Given the description of an element on the screen output the (x, y) to click on. 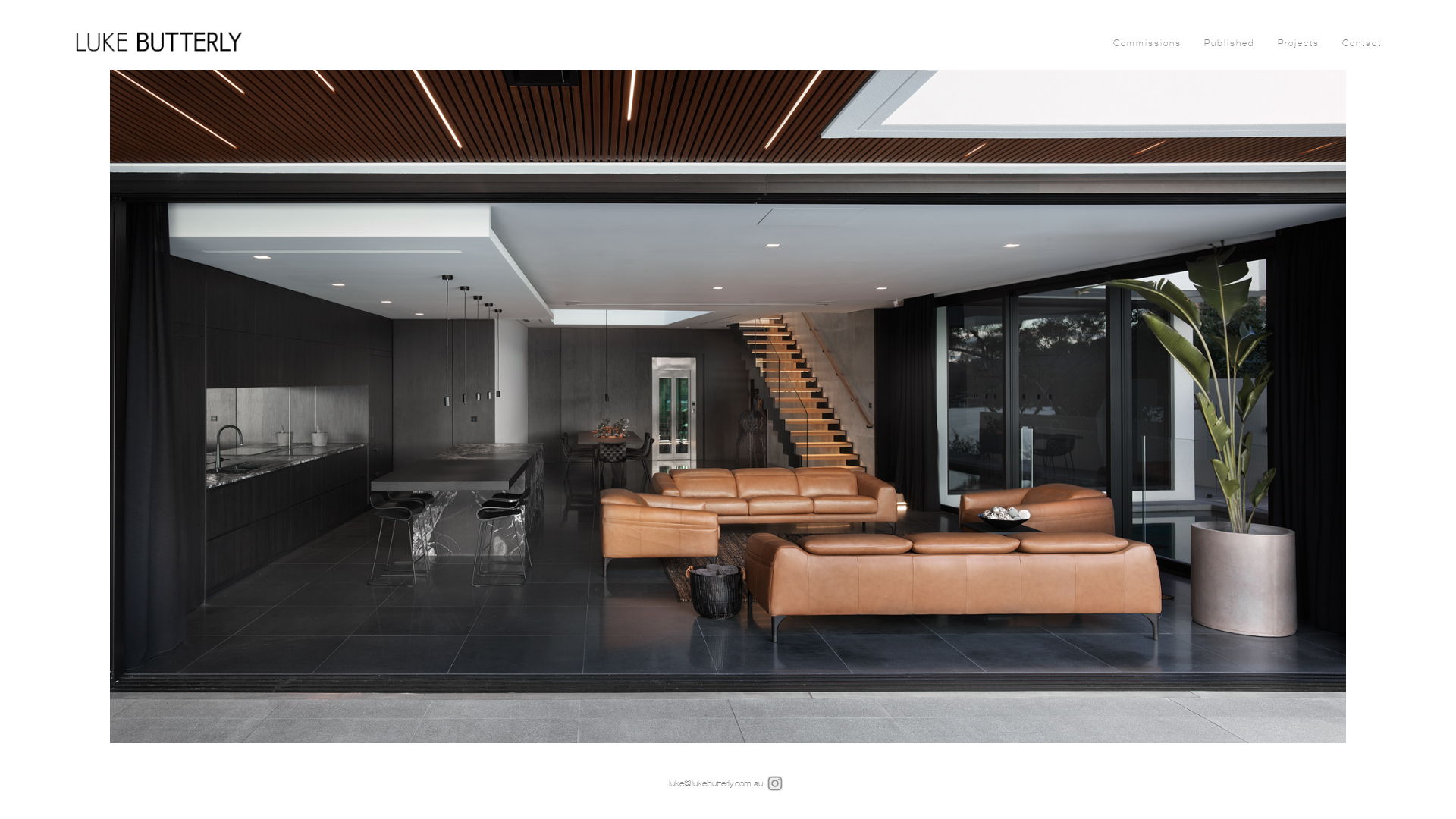
Projects Element type: text (1298, 42)
luke@lukebutterly.com.au Element type: text (715, 783)
Commissions Element type: text (1147, 42)
Published Element type: text (1229, 42)
Contact Element type: text (1361, 42)
